Given the description of an element on the screen output the (x, y) to click on. 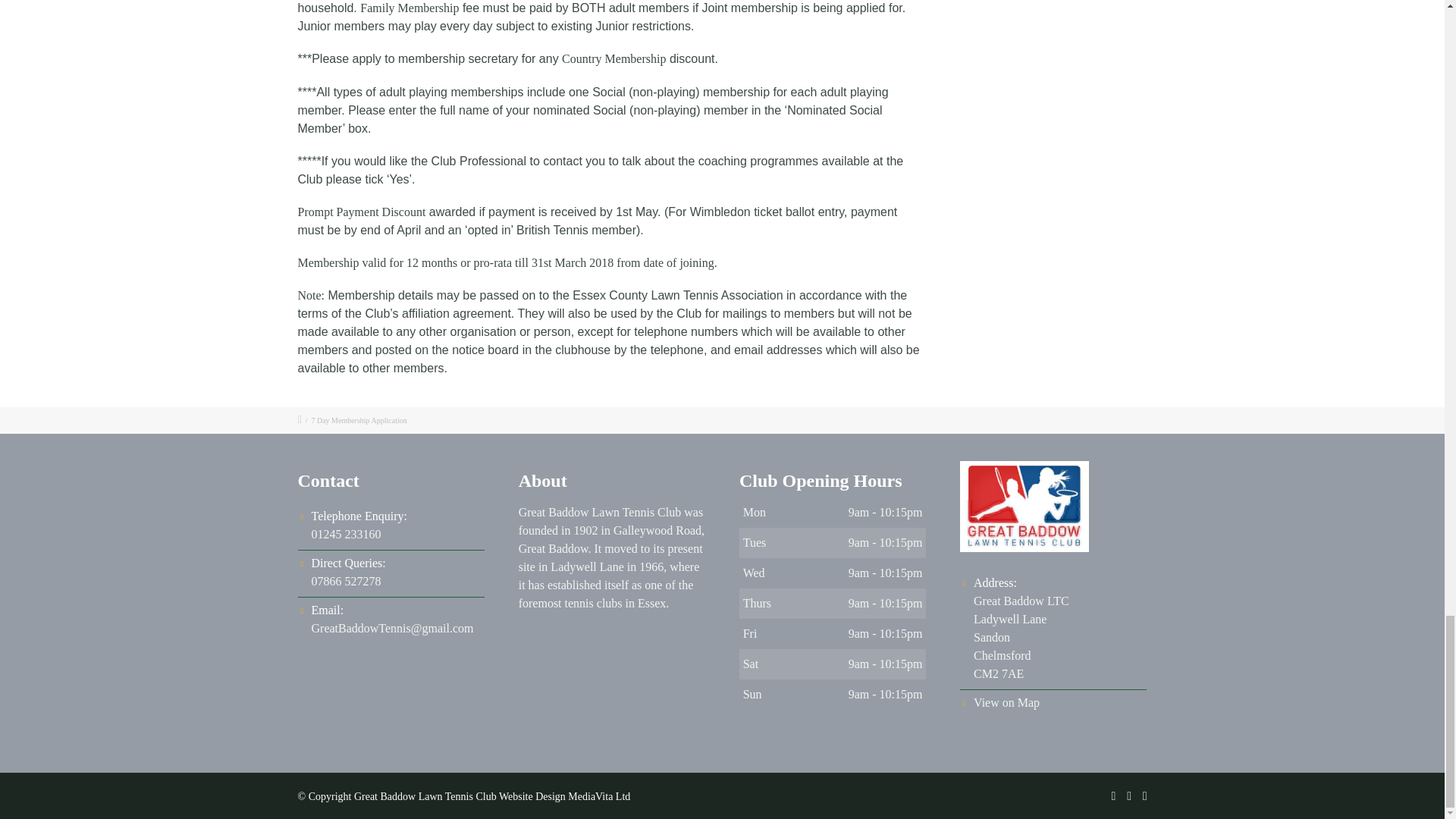
View on Map (348, 572)
